Given the description of an element on the screen output the (x, y) to click on. 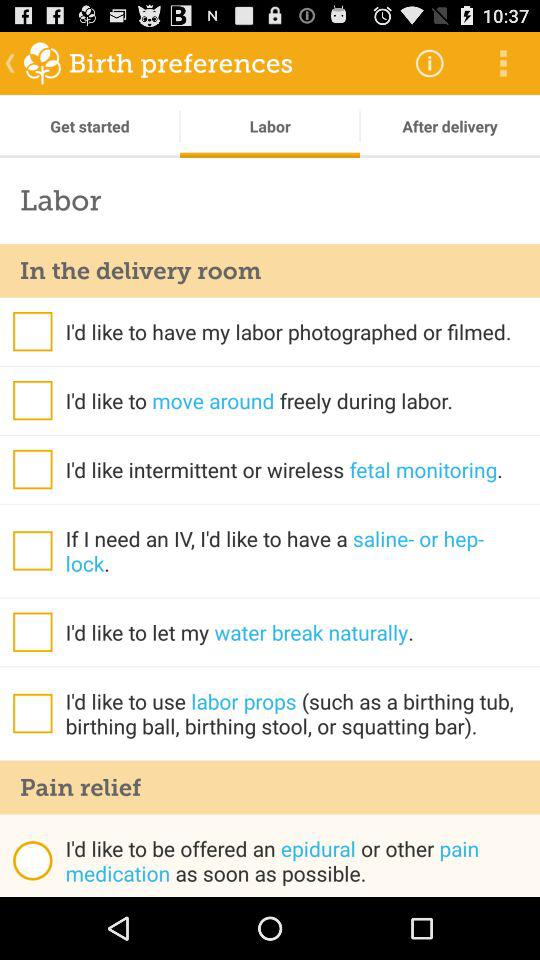
go to click the box (32, 400)
